Given the description of an element on the screen output the (x, y) to click on. 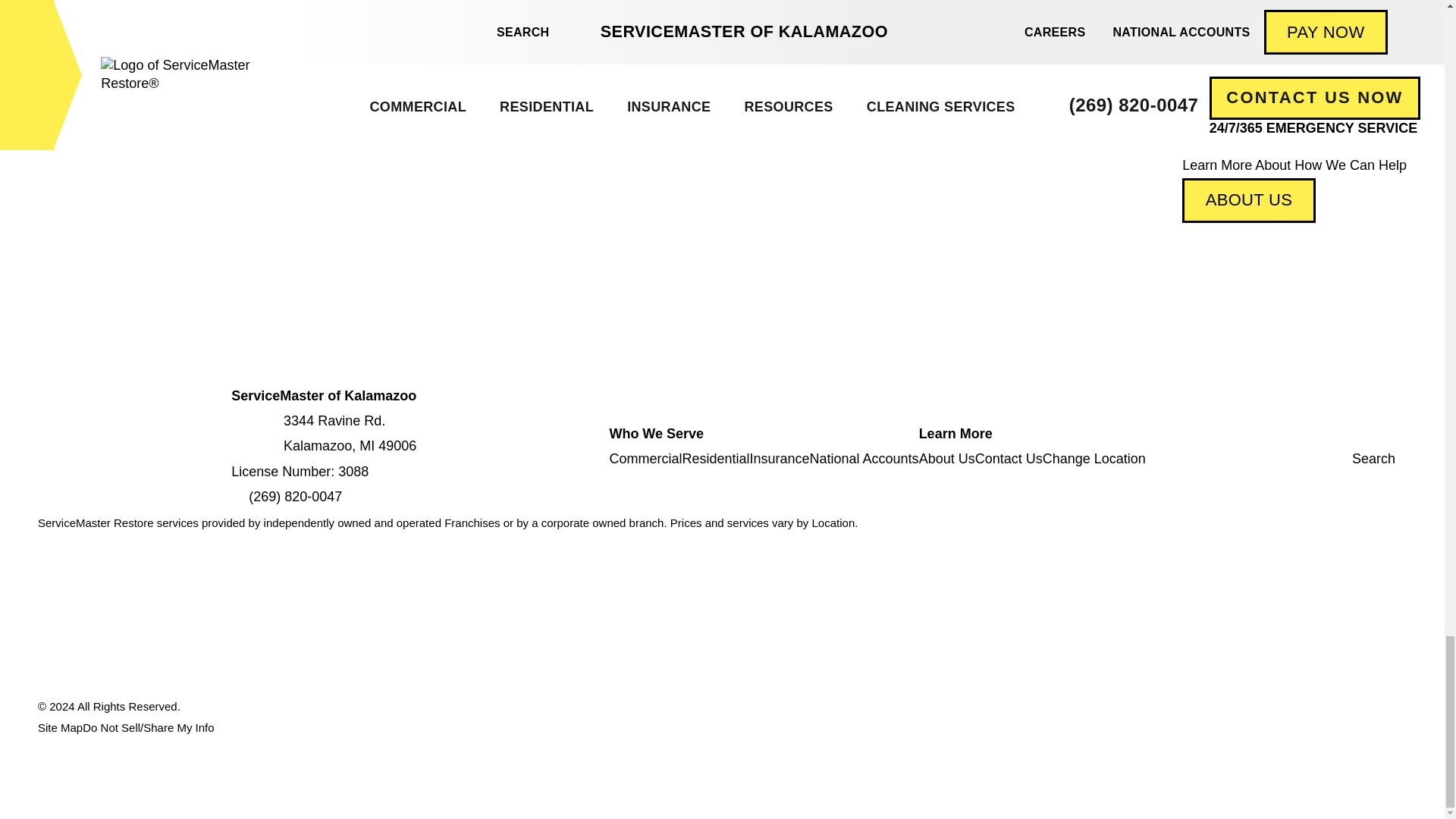
Instagram (1385, 433)
Facebook (1358, 433)
Google My Business (1399, 433)
Linkedin (1371, 433)
Youtube (1345, 433)
